Given the description of an element on the screen output the (x, y) to click on. 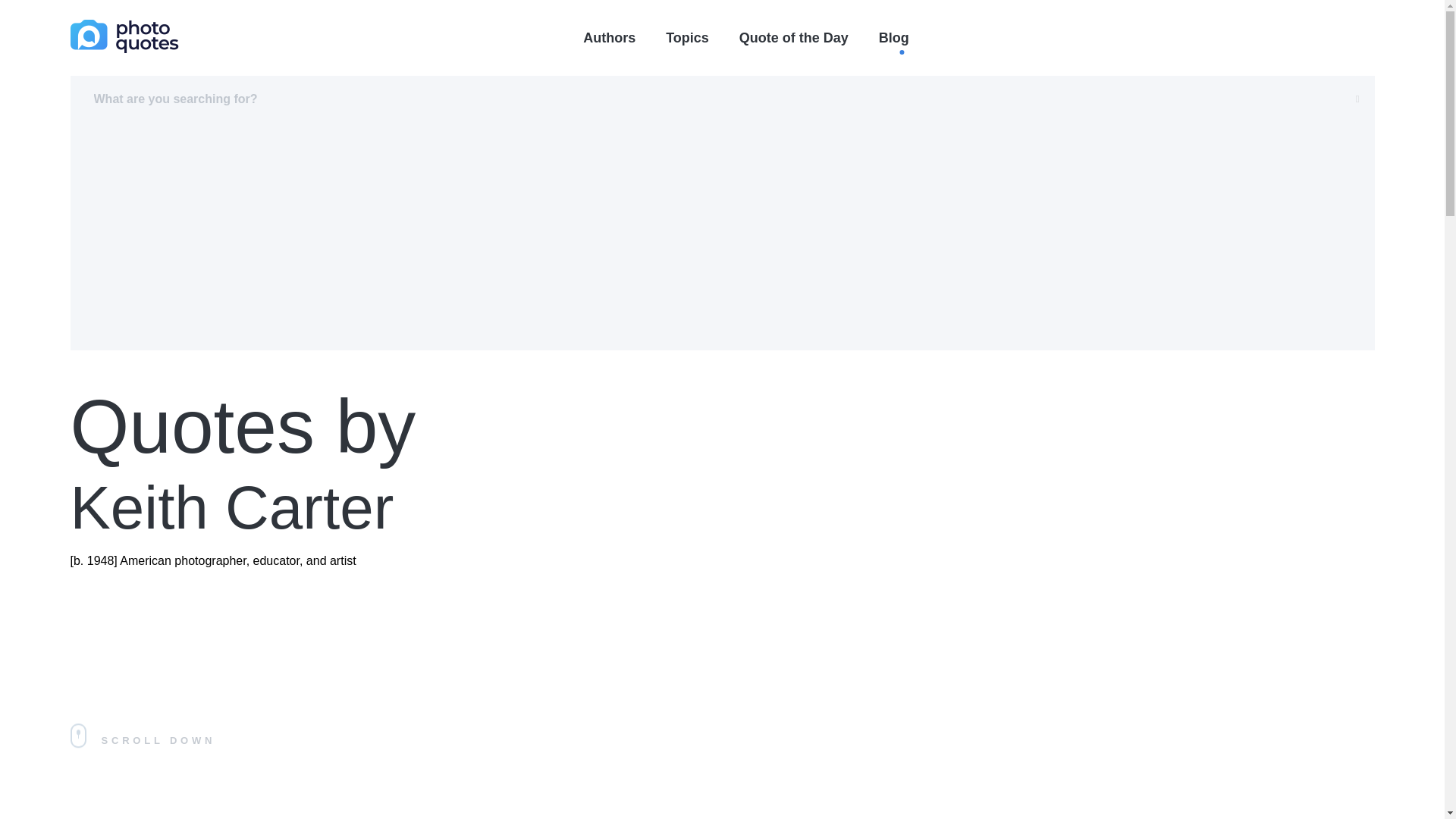
SCROLL DOWN (340, 740)
Blog (893, 37)
Authors (608, 37)
Topics (687, 37)
Quote of the Day (128, 816)
Advertisement (793, 37)
